Given the description of an element on the screen output the (x, y) to click on. 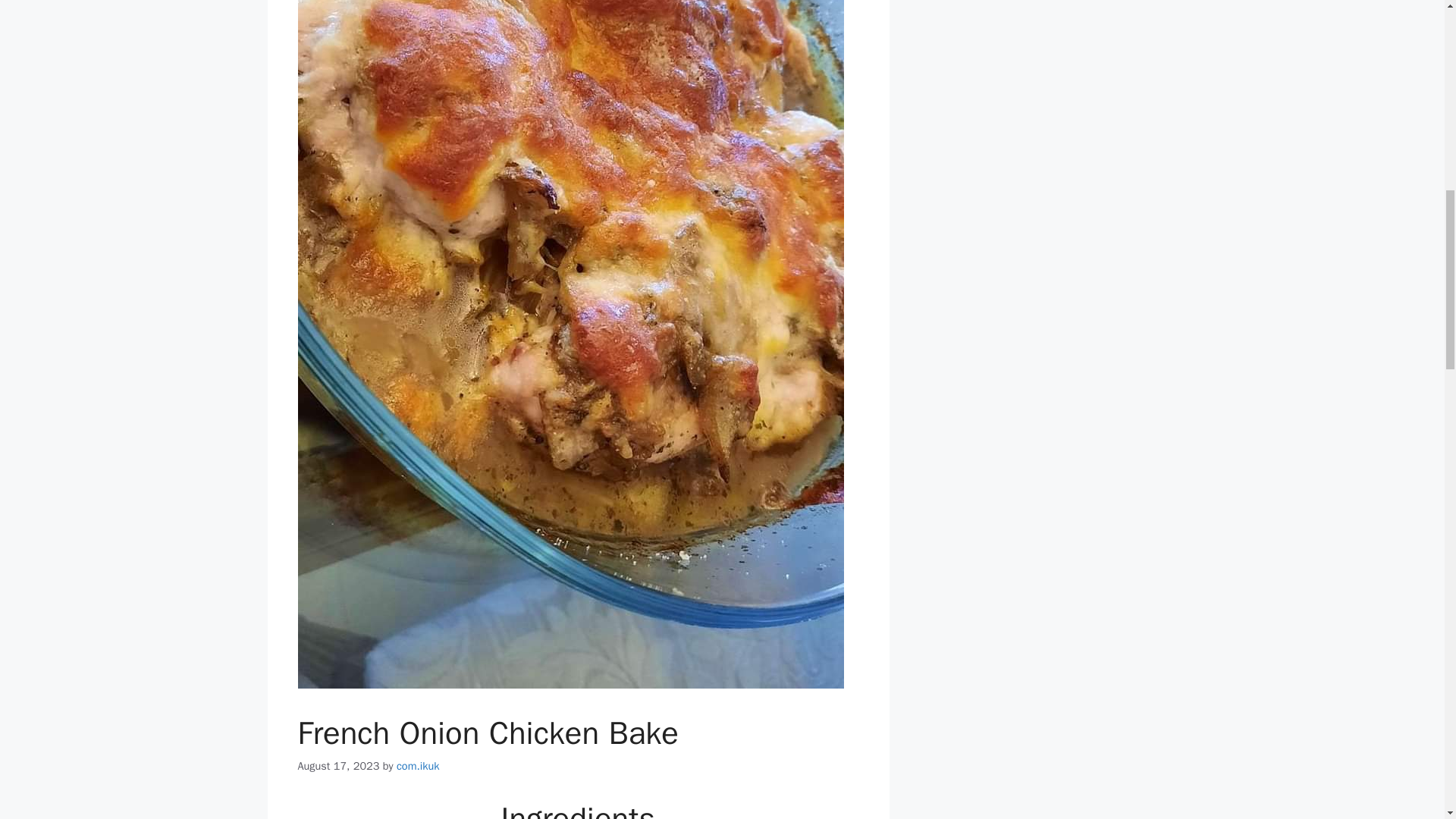
View all posts by com.ikuk (417, 766)
com.ikuk (417, 766)
